Given the description of an element on the screen output the (x, y) to click on. 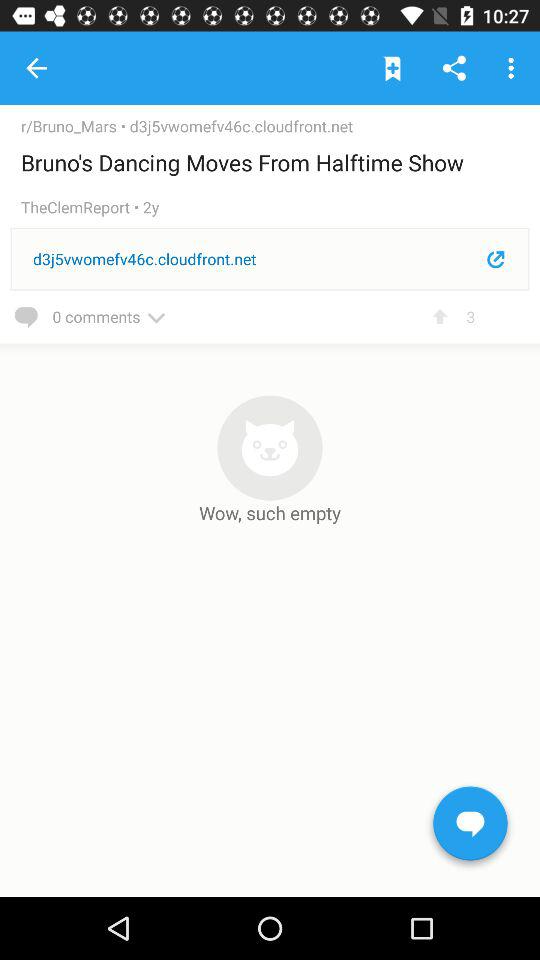
click the icon next to the 2y (81, 207)
